Given the description of an element on the screen output the (x, y) to click on. 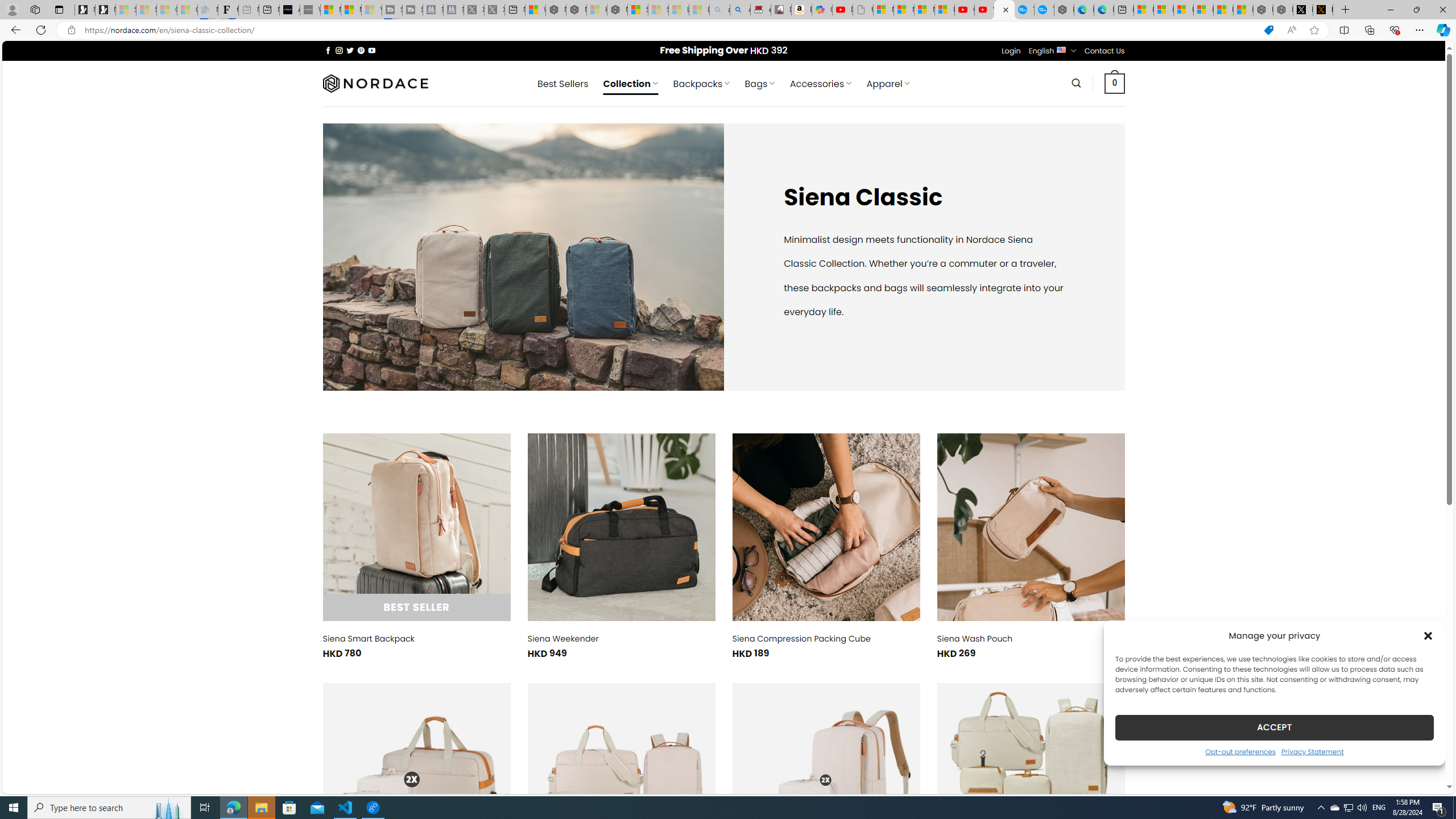
 Best Sellers (562, 83)
The most popular Google 'how to' searches (1043, 9)
Nordace (@NordaceOfficial) / X (1302, 9)
Follow on Twitter (349, 49)
This site has coupons! Shopping in Microsoft Edge (1268, 29)
Follow on Facebook (327, 49)
Nordace - Nordace has arrived Hong Kong (1063, 9)
YouTube Kids - An App Created for Kids to Explore Content (983, 9)
  0   (1115, 83)
Privacy Statement (1312, 750)
